Given the description of an element on the screen output the (x, y) to click on. 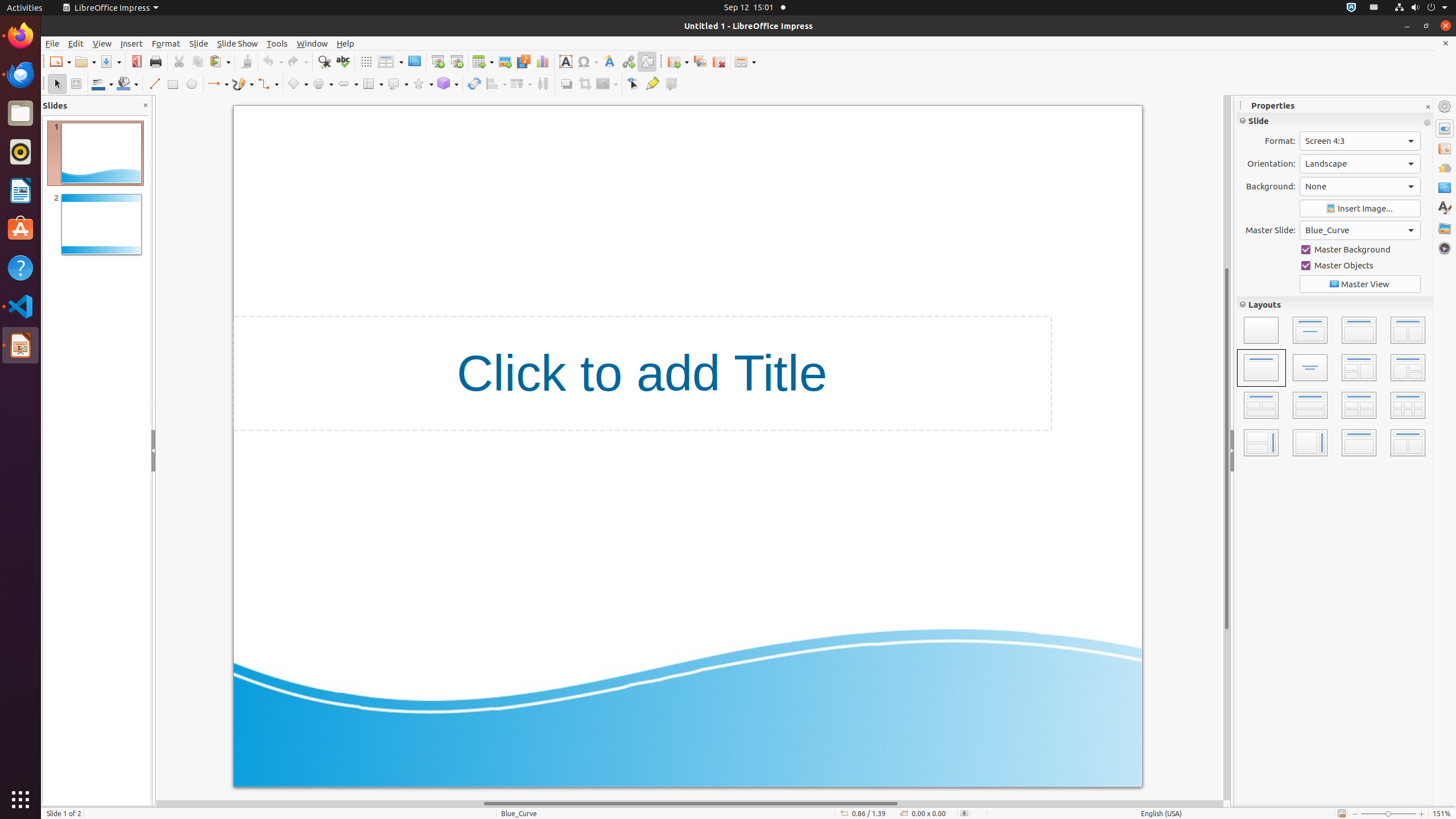
Save Element type: push-button (109, 61)
Chart Element type: push-button (541, 61)
Highlight Color Element type: push-button (1277, 192)
Symbol Shapes Element type: push-button (321, 83)
Numbering Element type: push-button (1270, 386)
